Given the description of an element on the screen output the (x, y) to click on. 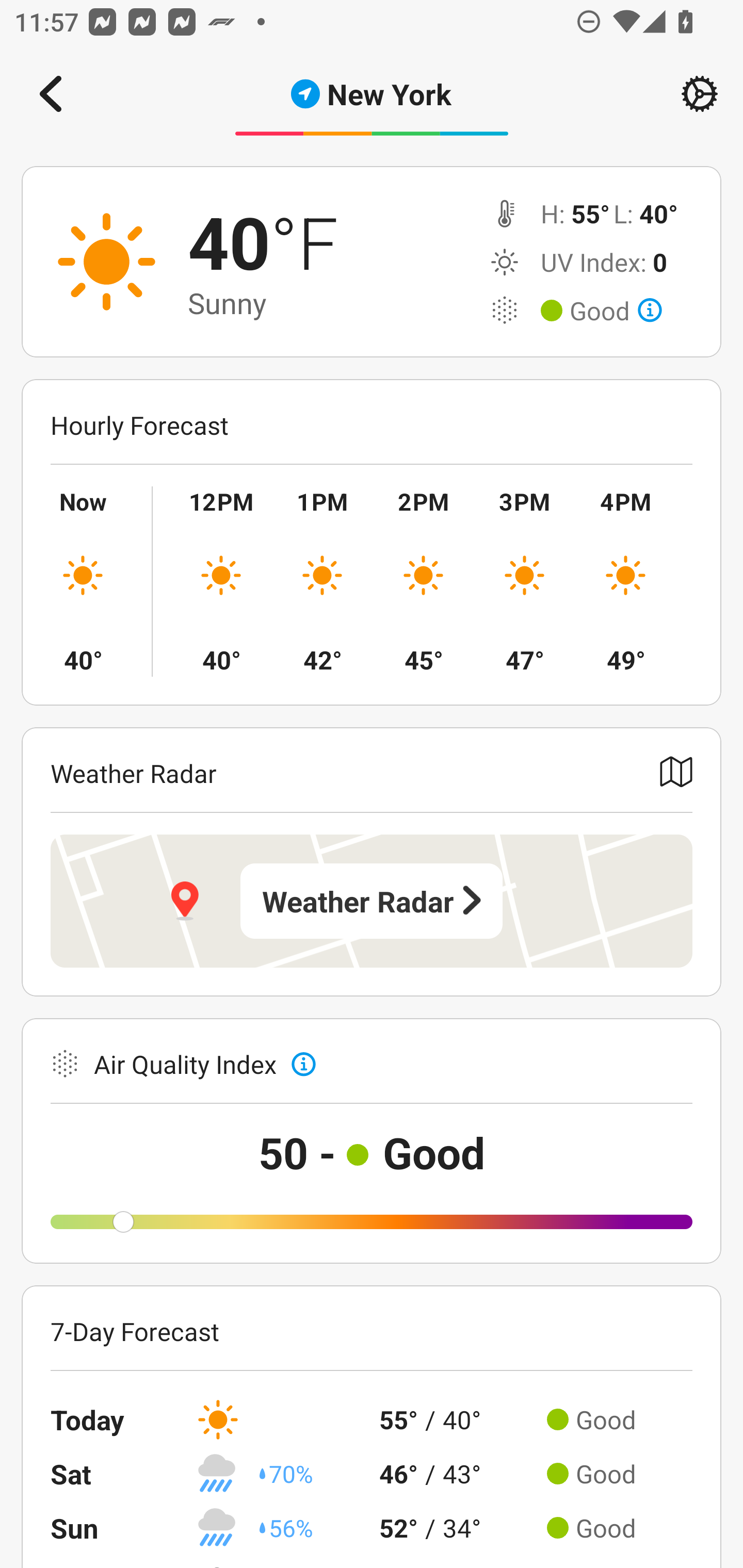
Navigate up (50, 93)
Setting (699, 93)
Good (615, 310)
Weather Radar (371, 900)
